Given the description of an element on the screen output the (x, y) to click on. 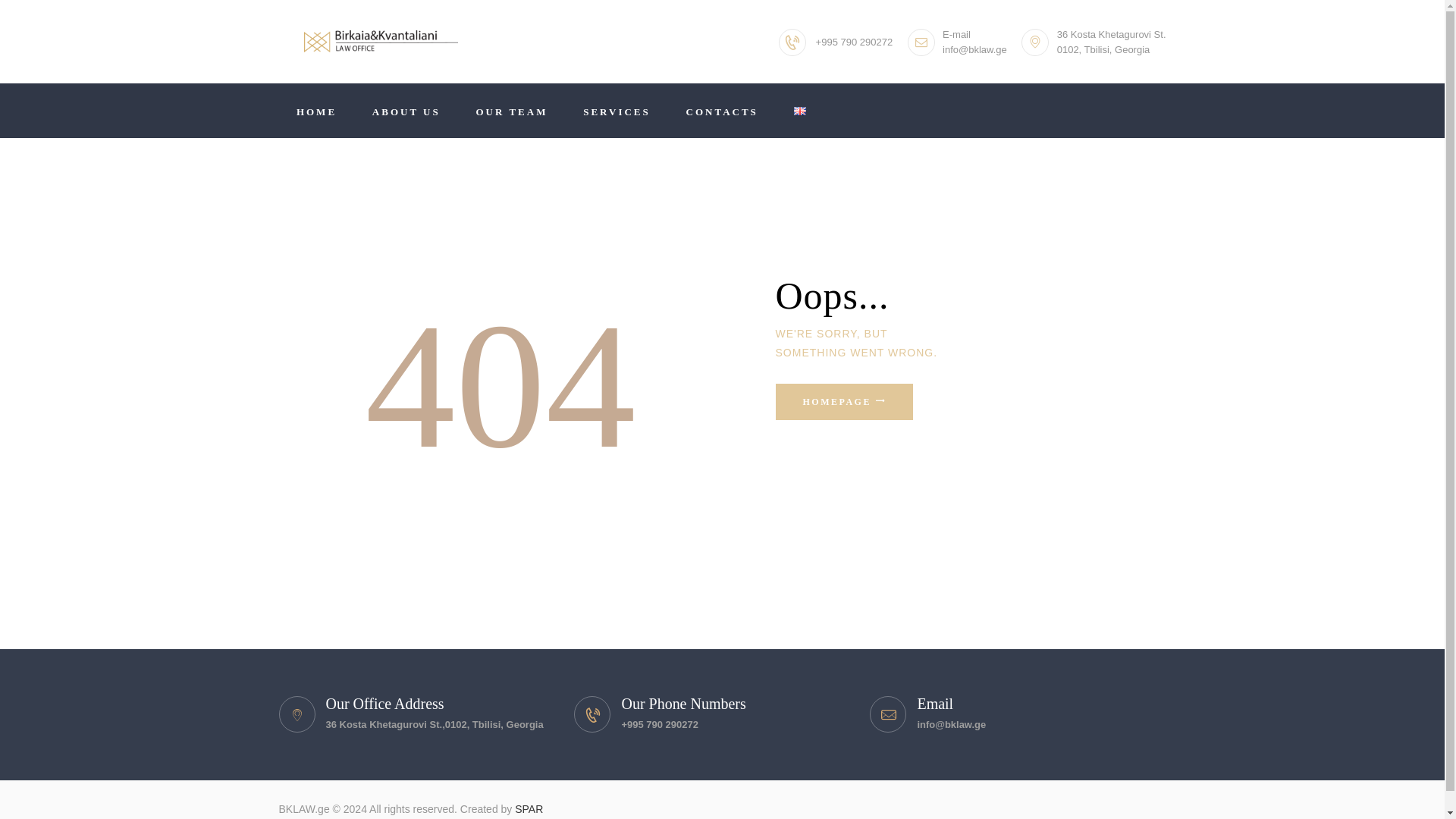
OUR TEAM (512, 110)
SERVICES (617, 110)
SPAR (529, 808)
CONTACTS (722, 110)
HOMEPAGE (843, 402)
HOME (317, 110)
ABOUT US (405, 110)
